Given the description of an element on the screen output the (x, y) to click on. 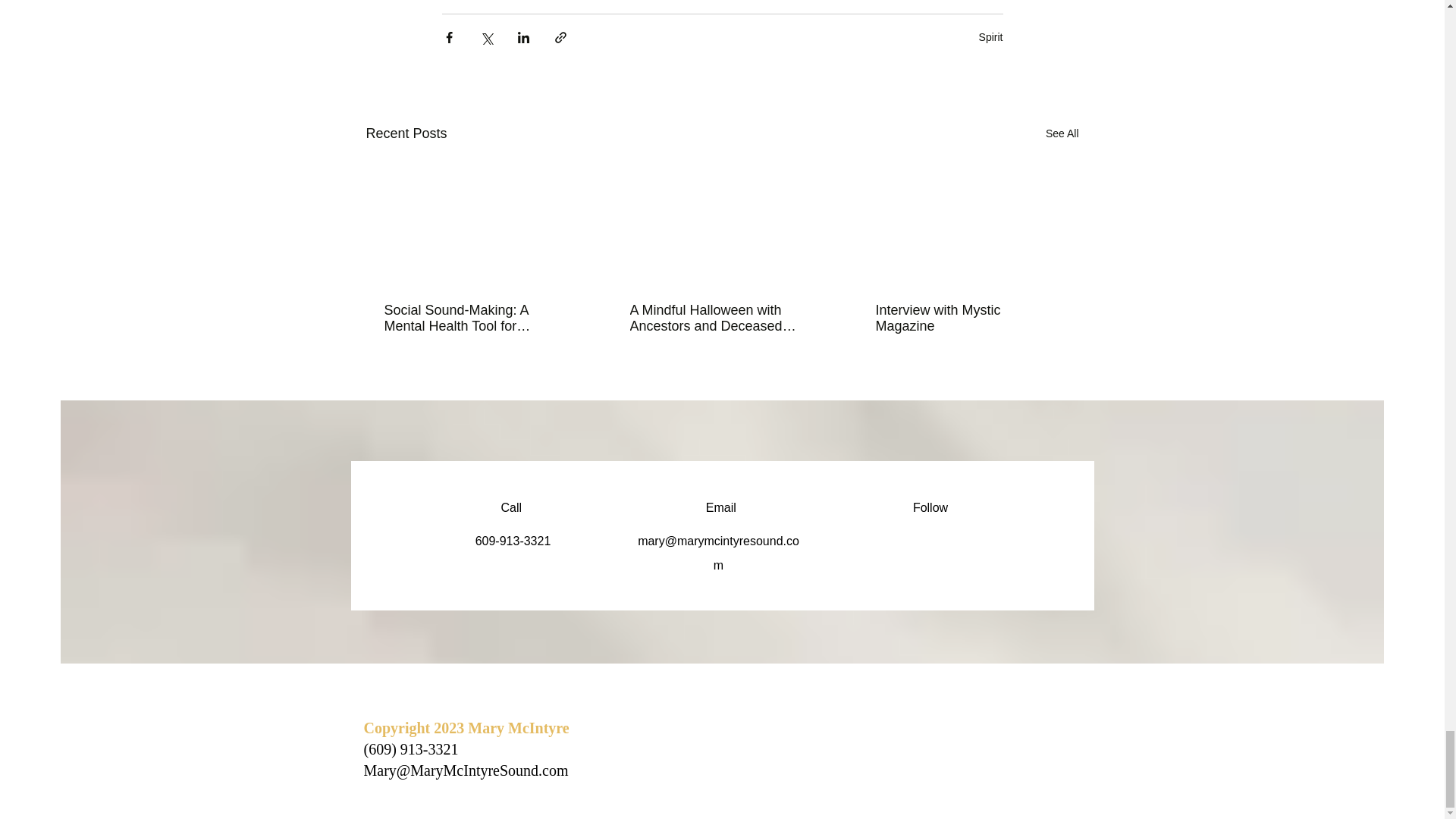
See All (1061, 133)
Spirit (990, 37)
A Mindful Halloween with Ancestors and Deceased Loved Ones (720, 318)
Interview with Mystic Magazine (966, 318)
